Given the description of an element on the screen output the (x, y) to click on. 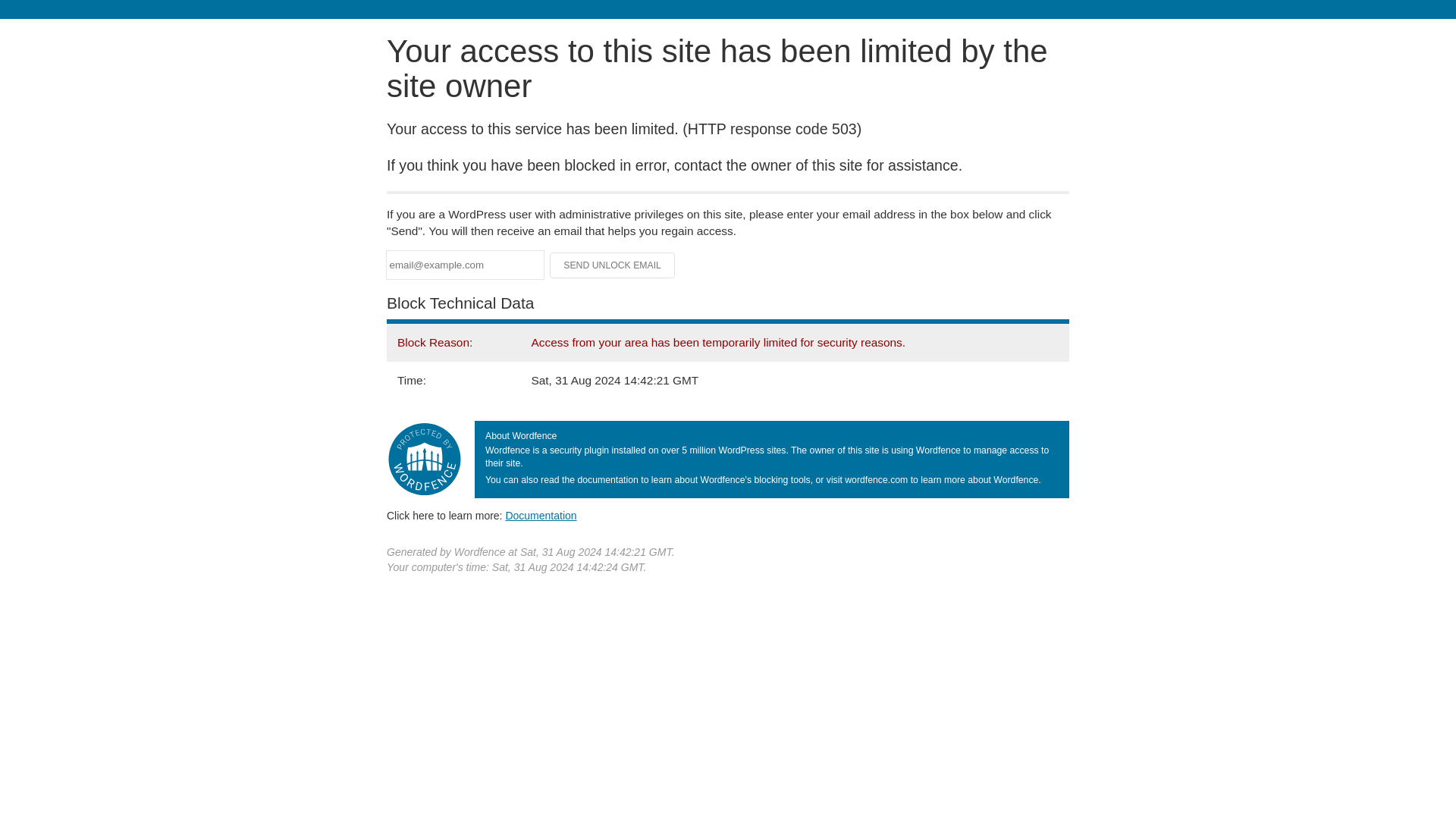
Send Unlock Email (612, 265)
Documentation (540, 515)
Send Unlock Email (612, 265)
